Given the description of an element on the screen output the (x, y) to click on. 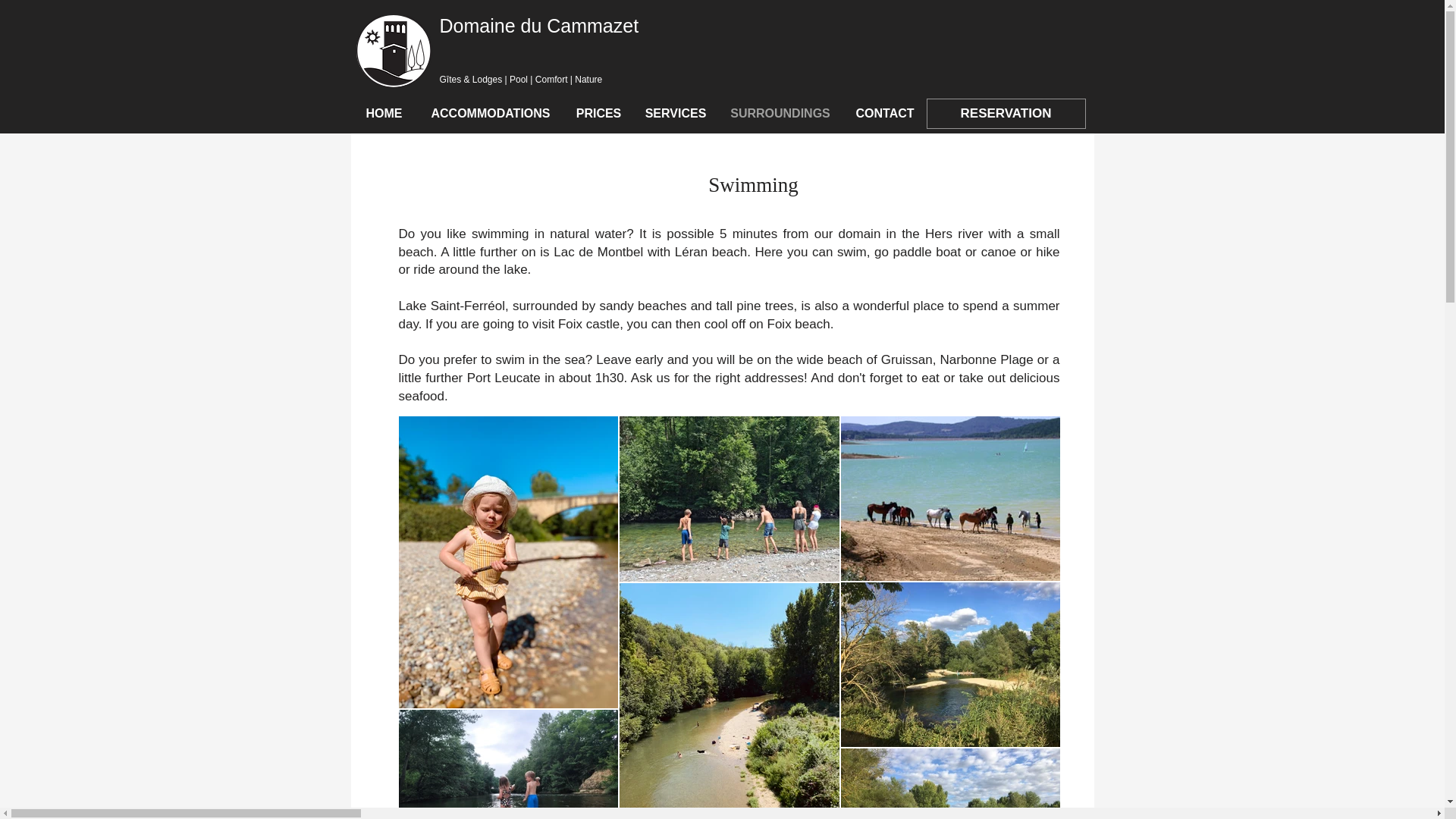
Domaine du Cammazet (539, 25)
SERVICES (675, 113)
PRICES (598, 113)
HOME (383, 113)
ACCOMMODATIONS (489, 113)
CONTACT (885, 113)
RESERVATION (1006, 113)
SURROUNDINGS (780, 113)
